Given the description of an element on the screen output the (x, y) to click on. 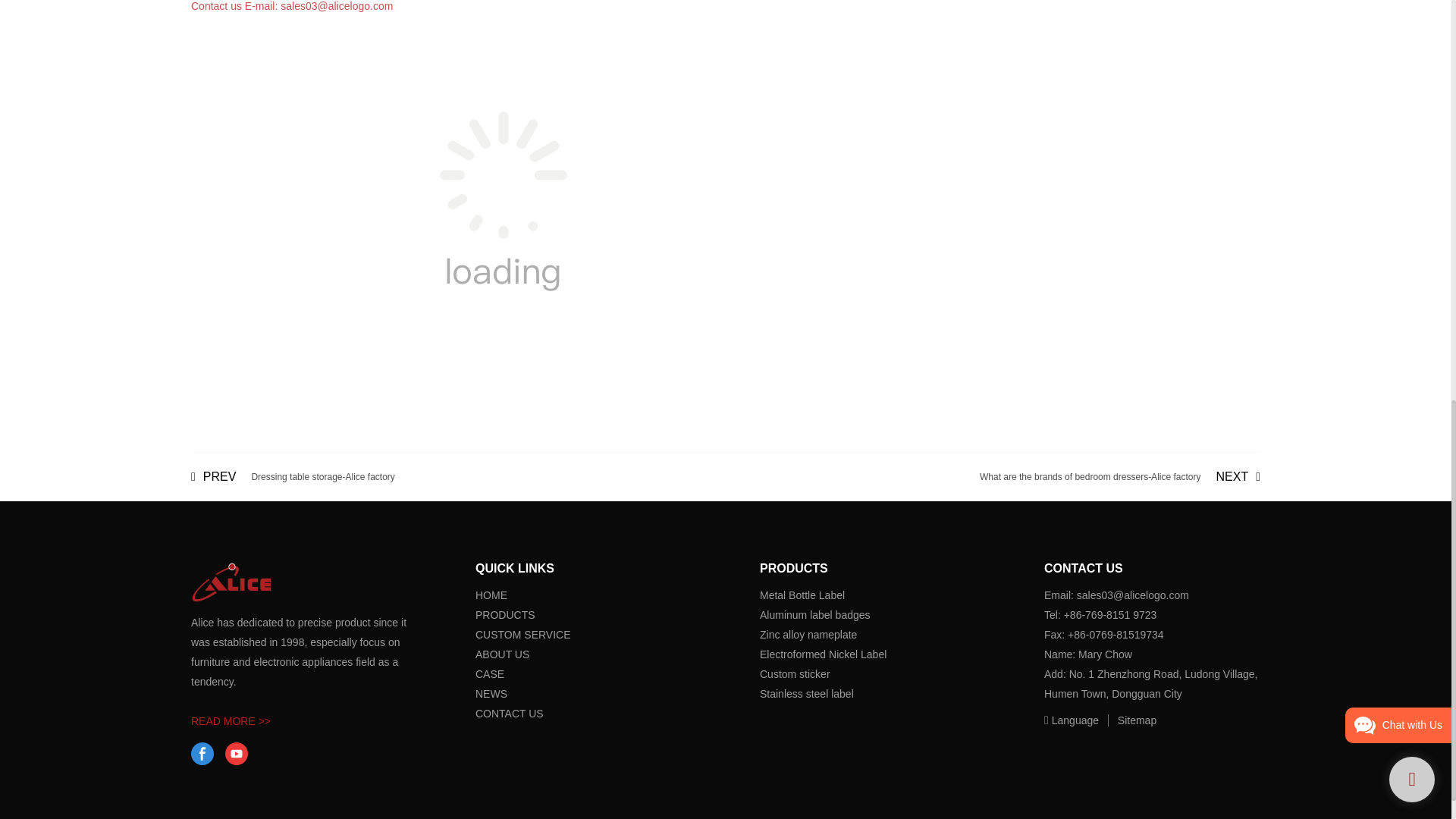
PRODUCTS (505, 614)
What are the brands of bedroom dressers-Alice factory (1119, 476)
Metal Bottle Label (1119, 476)
Dressing table storage-Alice factory (802, 594)
ABOUT US (292, 476)
facebook (502, 654)
youtube (202, 753)
CONTACT US (236, 753)
CUSTOM SERVICE (292, 476)
CA (509, 713)
NE (523, 634)
HOME (482, 674)
